Given the description of an element on the screen output the (x, y) to click on. 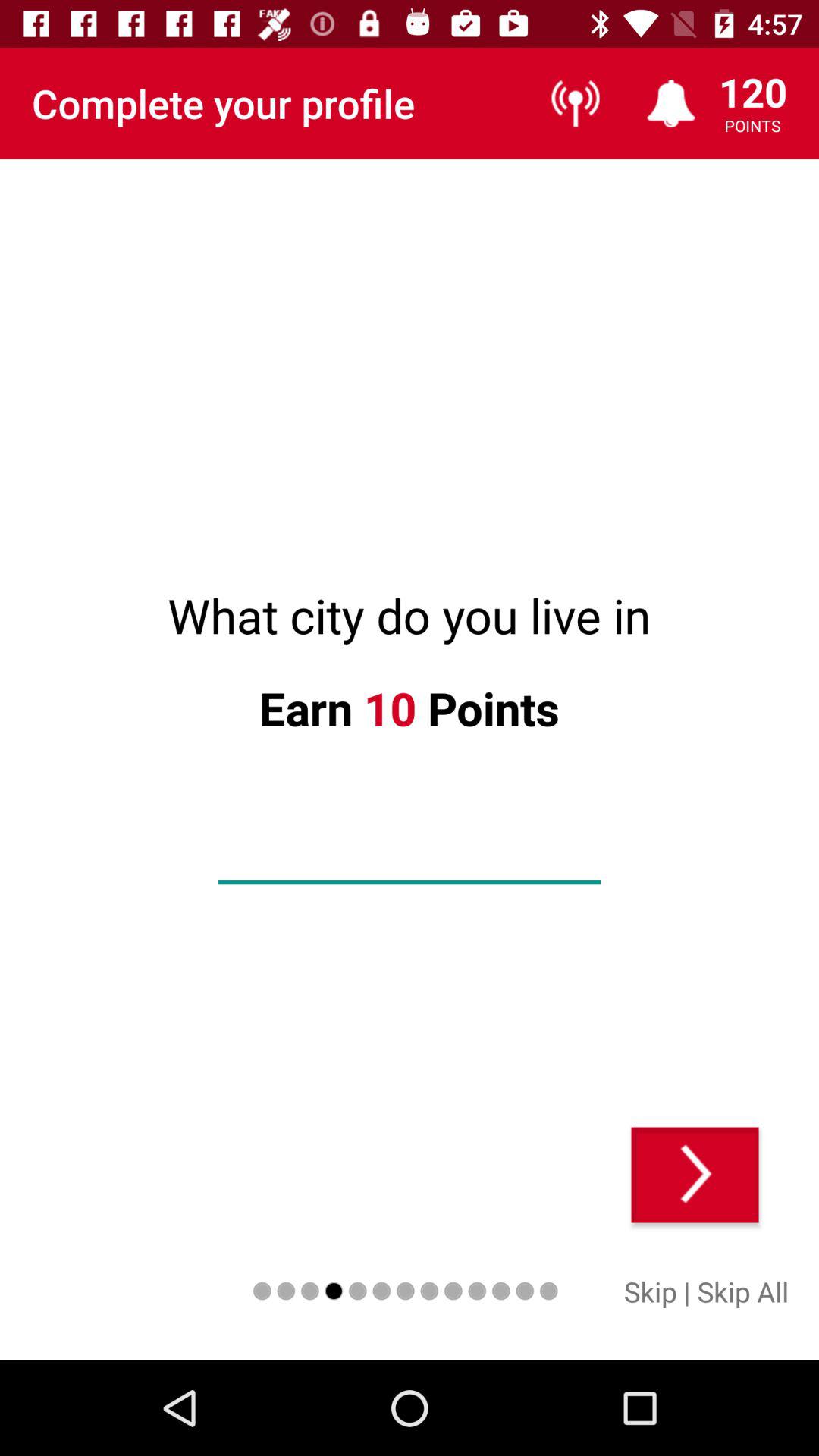
enter your city (409, 858)
